Given the description of an element on the screen output the (x, y) to click on. 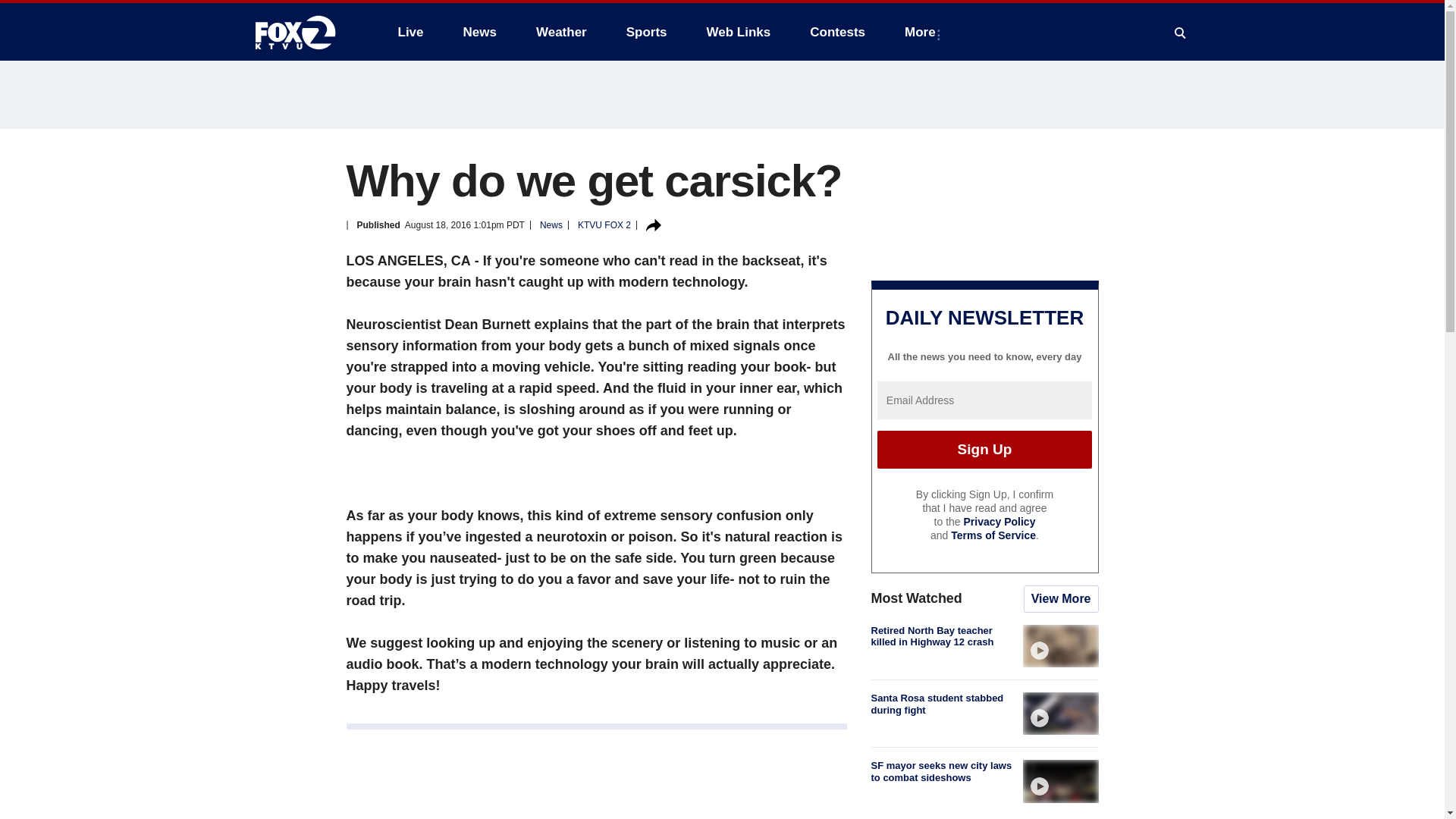
More (922, 32)
Sign Up (984, 449)
News (479, 32)
Sports (646, 32)
Web Links (738, 32)
Contests (837, 32)
Live (410, 32)
Weather (561, 32)
